Given the description of an element on the screen output the (x, y) to click on. 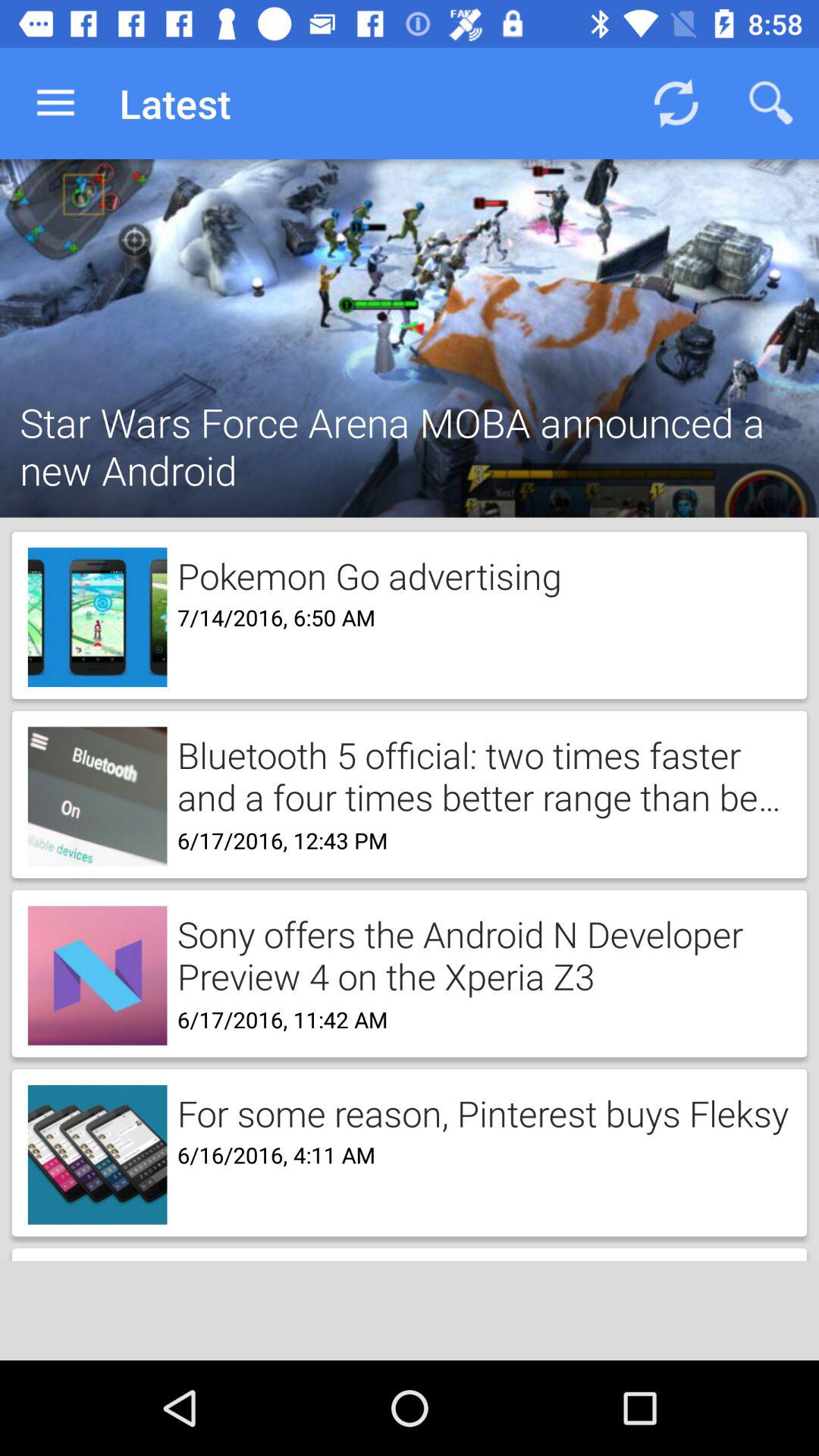
swipe to bluetooth 5 official item (479, 774)
